Given the description of an element on the screen output the (x, y) to click on. 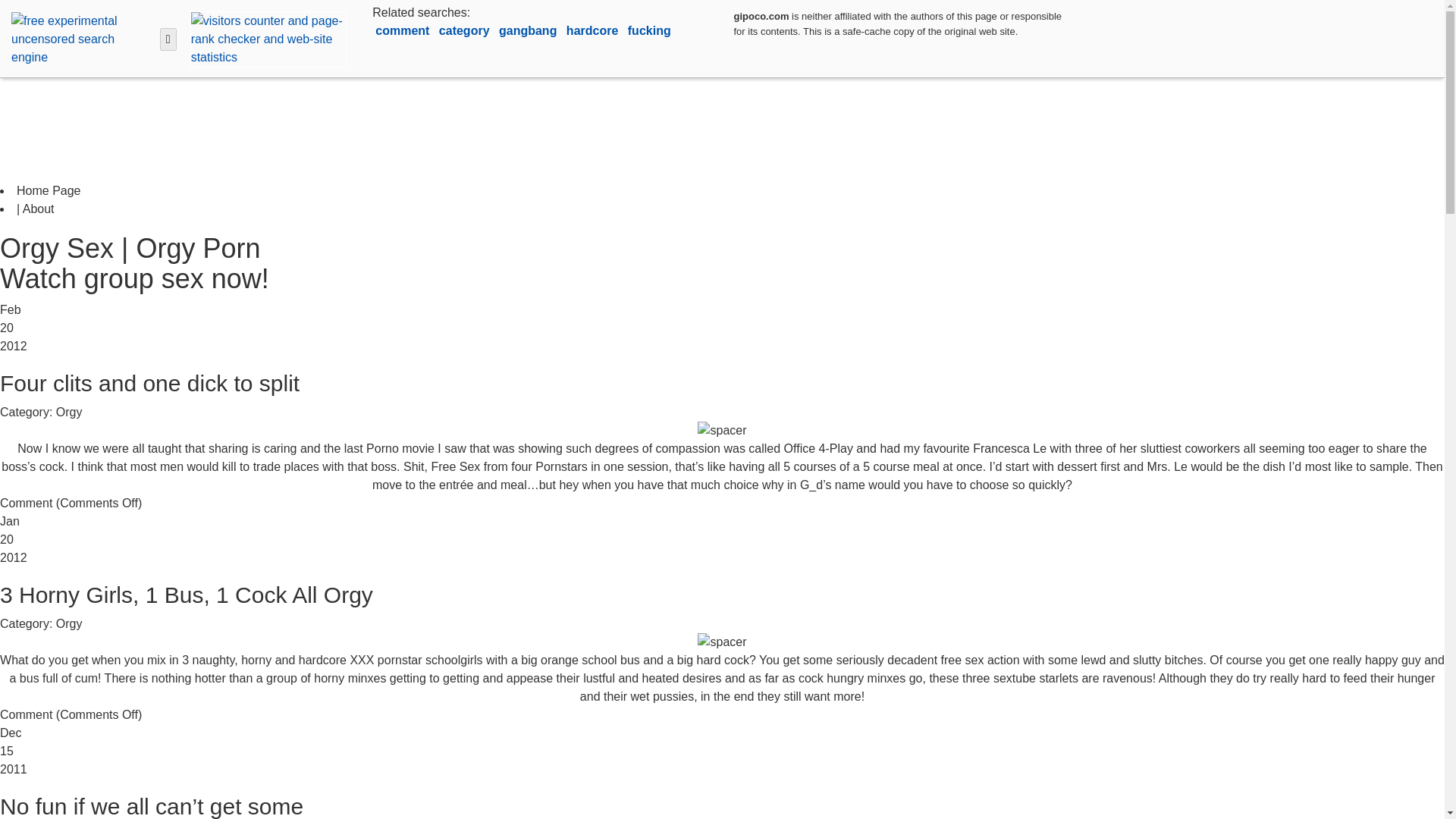
category (466, 30)
comment (403, 30)
comment (403, 30)
hardcore (593, 30)
hardcore (593, 30)
gangbang (529, 30)
view page-rank and visitors counter and free website stats (265, 38)
fucking (649, 30)
gangbang (529, 30)
free experimental uncensored search engine - home page (79, 38)
